Given the description of an element on the screen output the (x, y) to click on. 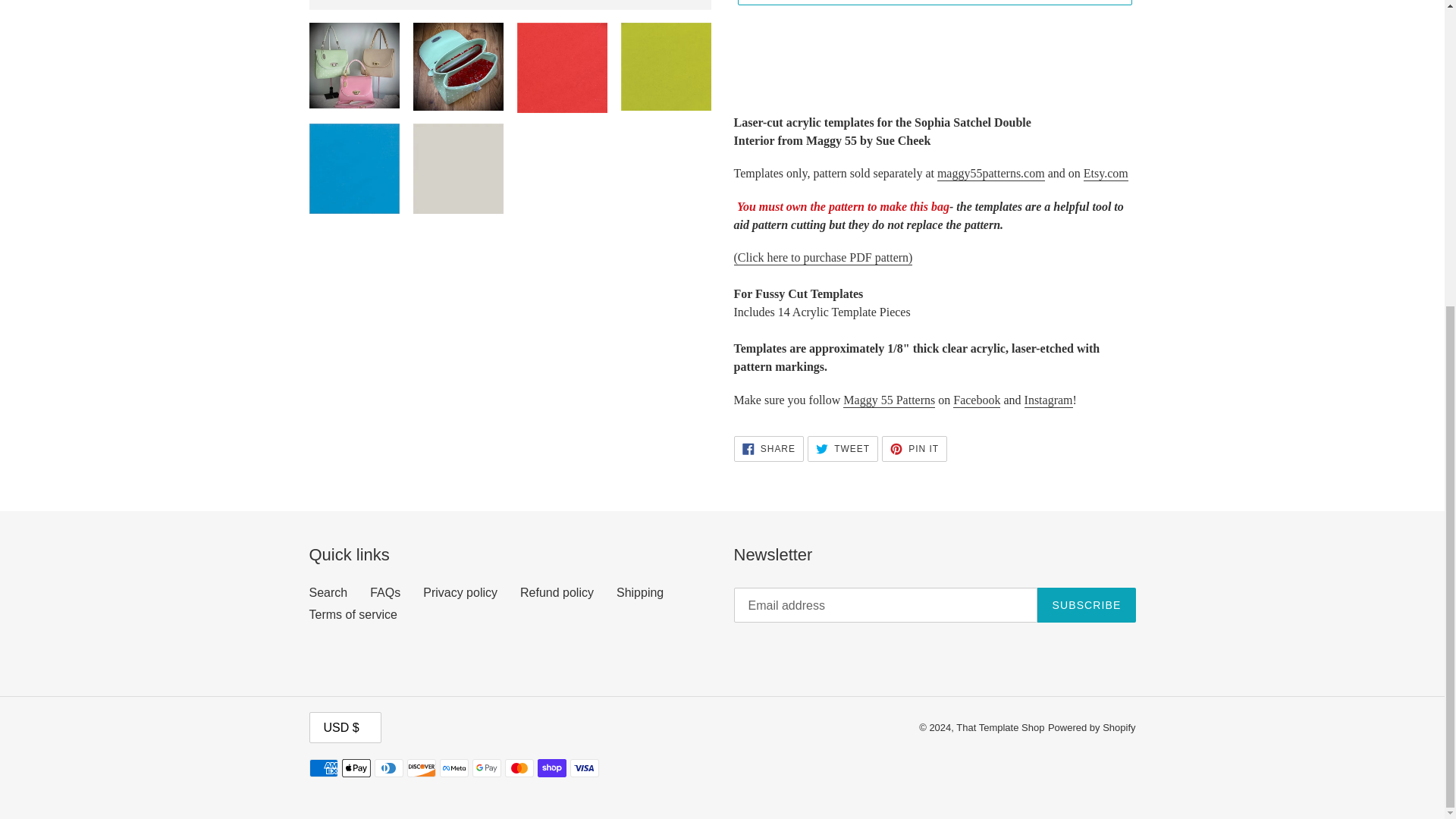
Maggy 55 Patterns (888, 400)
Etsy.com (1105, 173)
Facebook (976, 400)
maggy55patterns.com (991, 173)
Instagram (1049, 400)
ADD TO CART (933, 2)
